Given the description of an element on the screen output the (x, y) to click on. 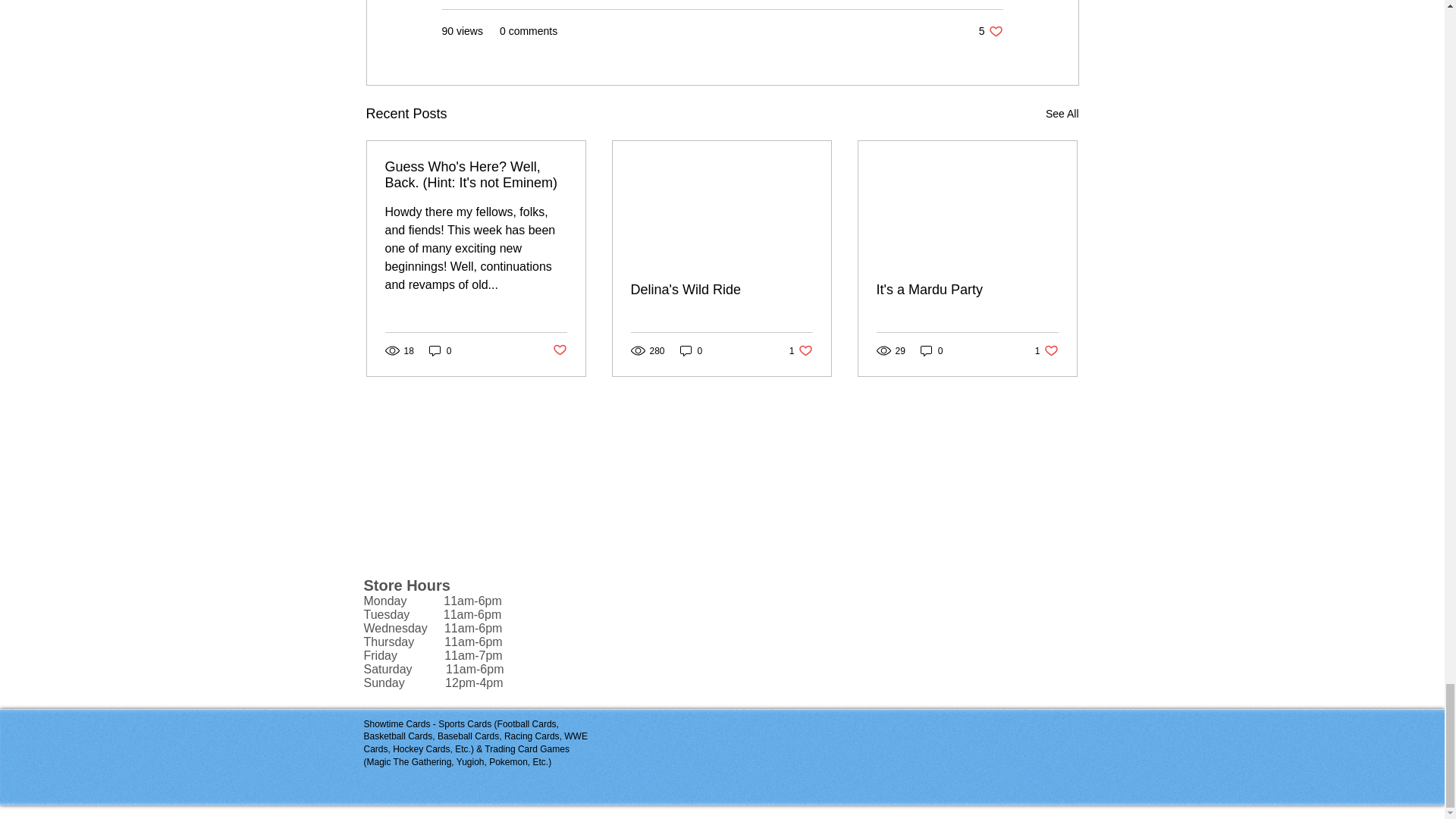
It's a Mardu Party (967, 289)
Post not marked as liked (558, 350)
Delina's Wild Ride (721, 289)
0 (440, 350)
See All (1061, 114)
0 (990, 31)
0 (1046, 350)
